Given the description of an element on the screen output the (x, y) to click on. 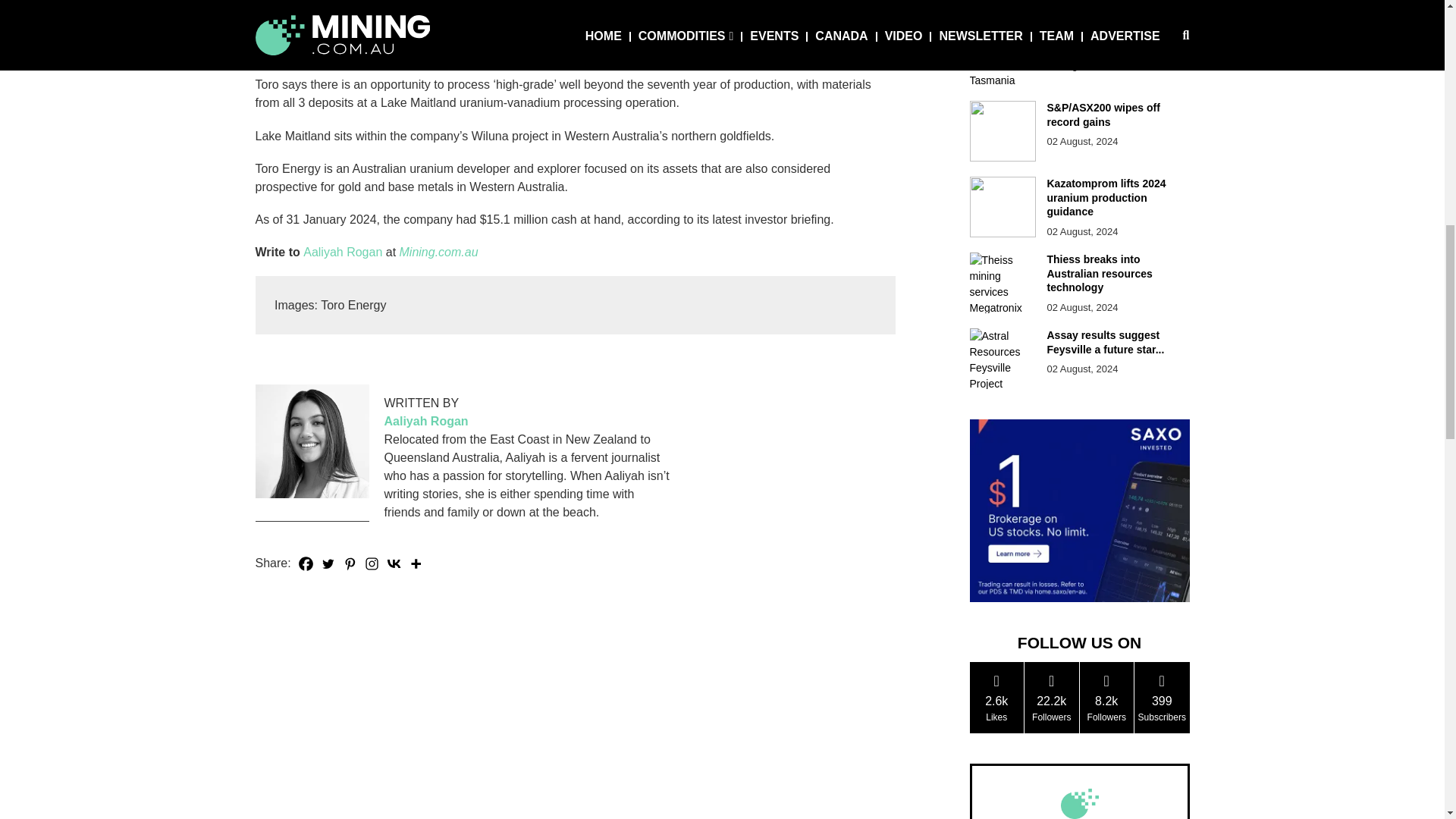
Mining.com.au (438, 252)
More (415, 563)
Aaliyah Rogan (341, 252)
Instagram (371, 563)
Pinterest (349, 563)
Facebook (306, 563)
Vkontakte (393, 563)
Twitter (327, 563)
Aaliyah Rogan (425, 421)
